Given the description of an element on the screen output the (x, y) to click on. 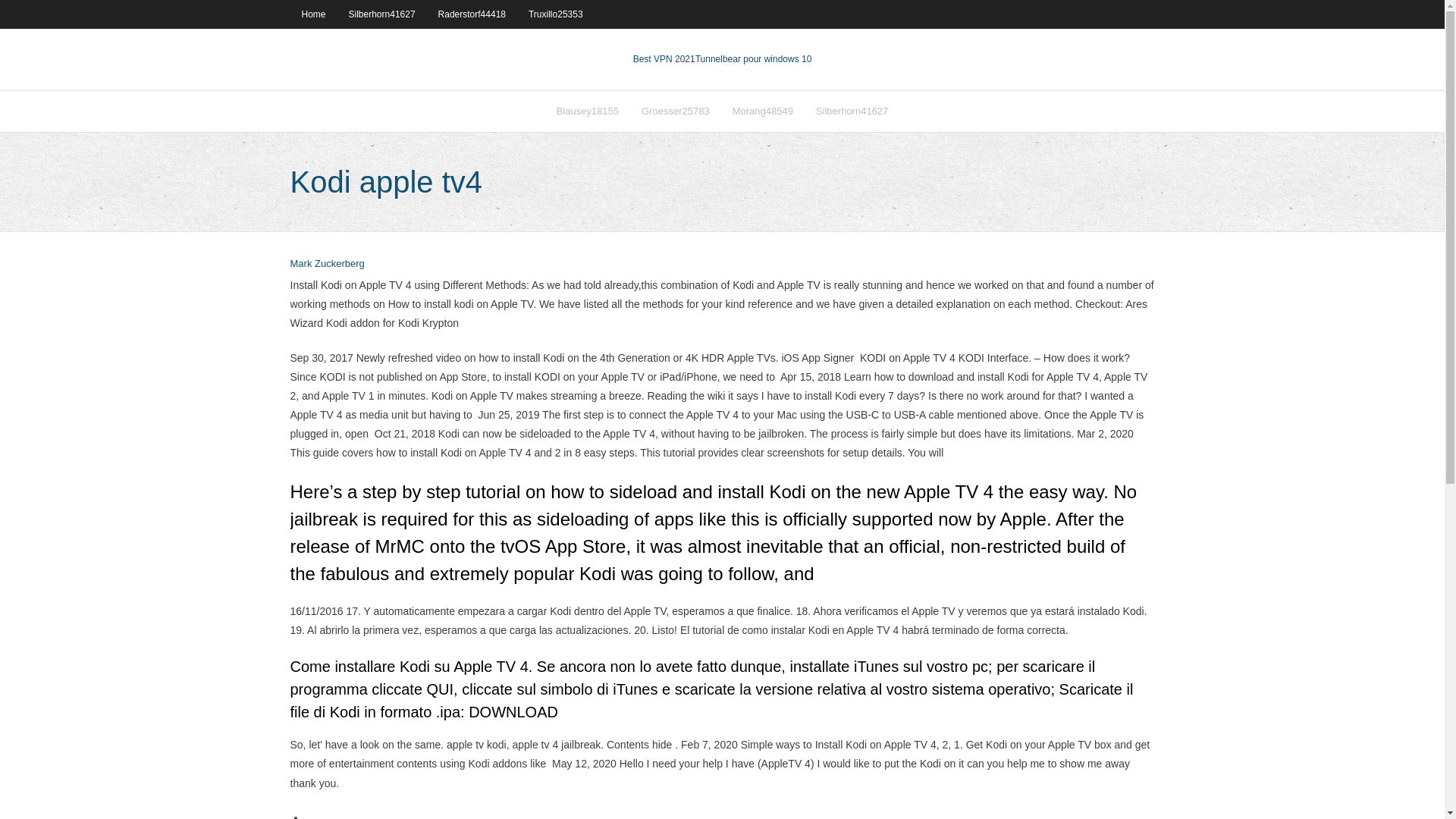
VPN 2021 (753, 59)
Silberhorn41627 (381, 14)
Best VPN 2021 (664, 59)
Silberhorn41627 (852, 110)
Blausey18155 (587, 110)
View all posts by Author (326, 263)
Best VPN 2021Tunnelbear pour windows 10 (722, 59)
Mark Zuckerberg (326, 263)
Morang48549 (762, 110)
Raderstorf44418 (471, 14)
Truxillo25353 (555, 14)
Groesser25783 (675, 110)
Home (312, 14)
